Given the description of an element on the screen output the (x, y) to click on. 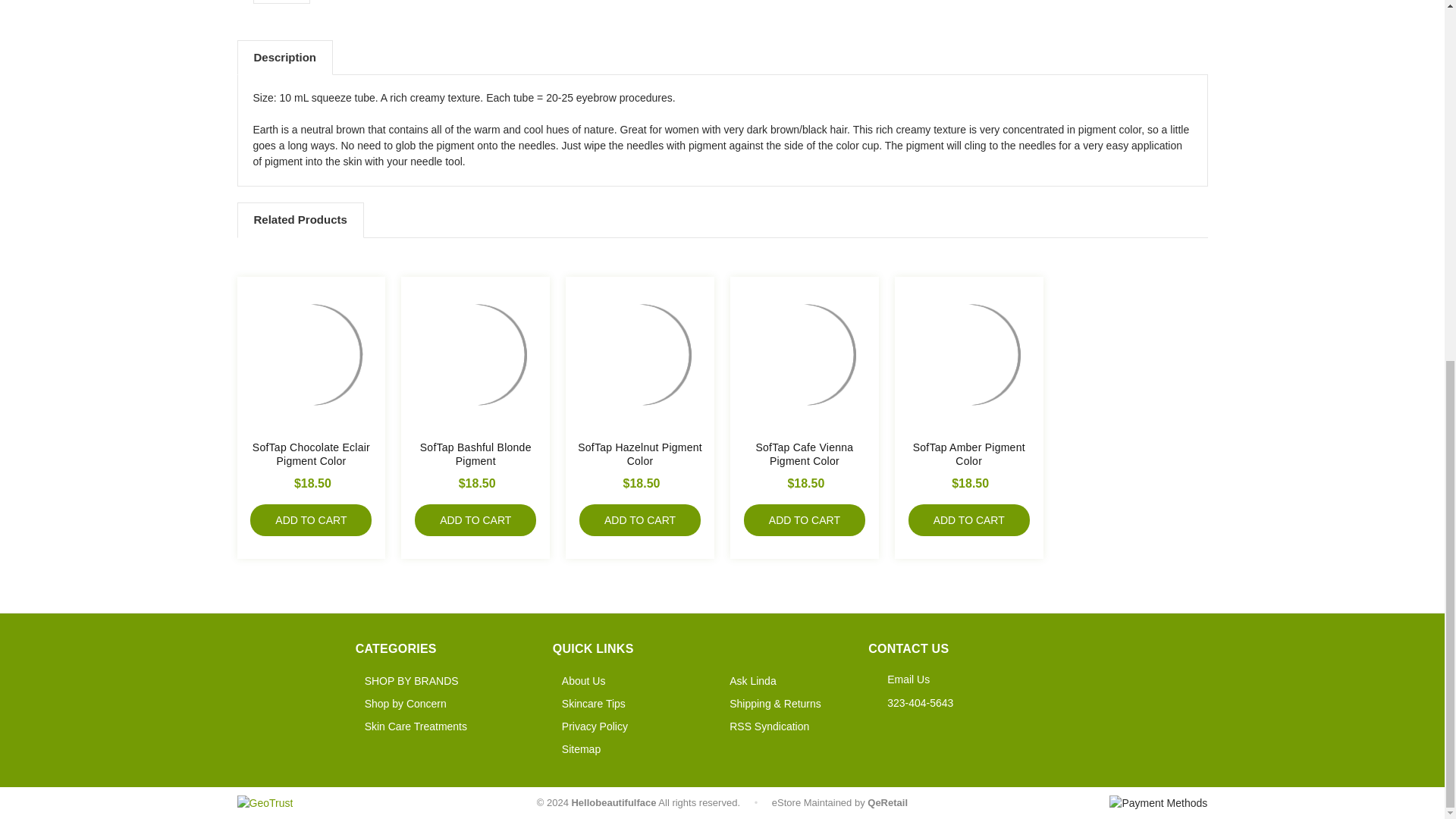
SofTap Chocolate Eclair Pigment Color (311, 354)
Email  (908, 679)
323-404-5643 (919, 702)
SofTap Hazelnut Pigment Color (639, 354)
SofTap Cafe Vienna Pigment Color (804, 354)
SofTap Amber Pigment Color (968, 354)
SofTap Bashful Blonde Pigment (475, 354)
